Given the description of an element on the screen output the (x, y) to click on. 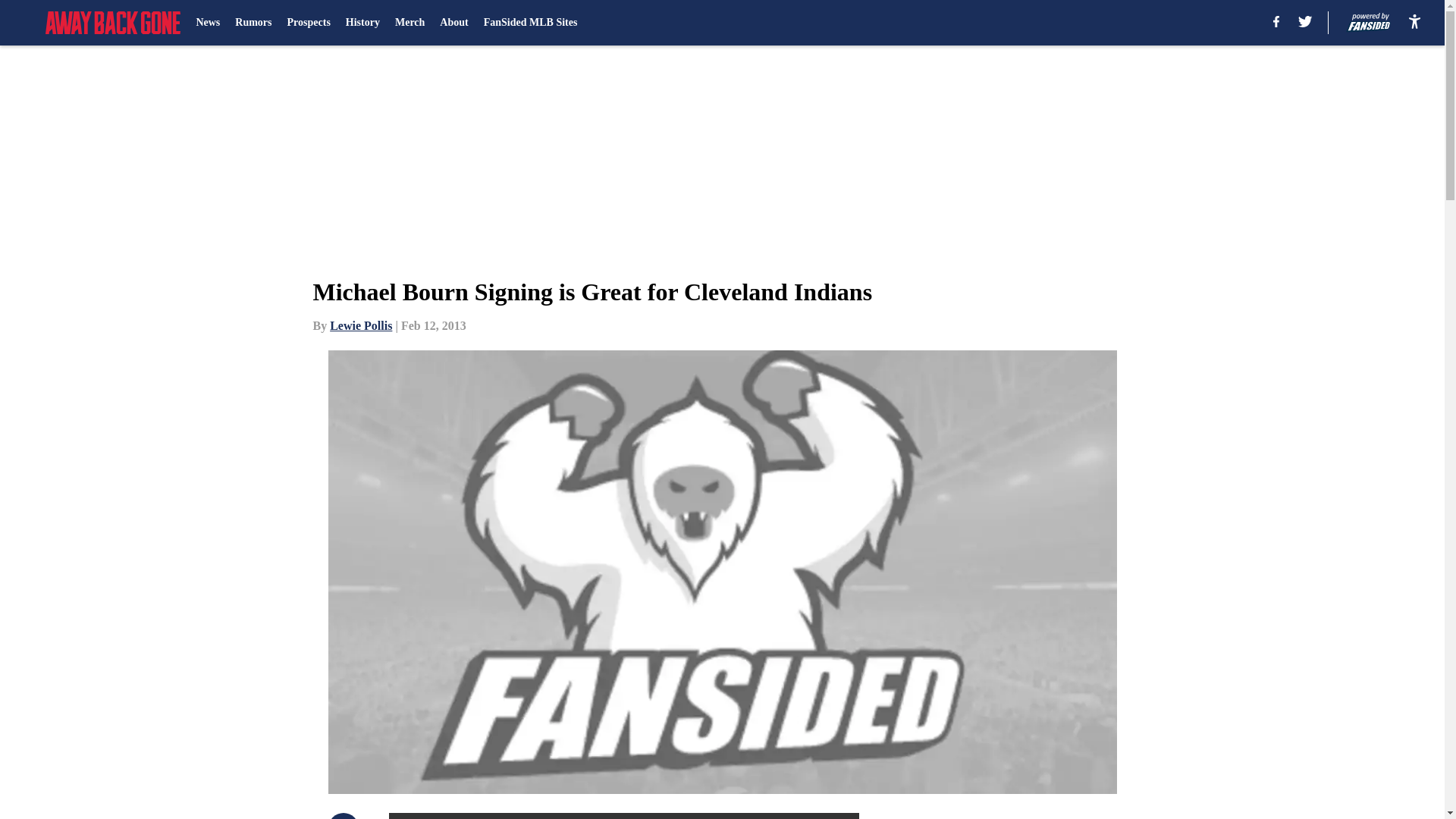
About (453, 22)
Rumors (252, 22)
Merch (409, 22)
FanSided MLB Sites (530, 22)
Prospects (308, 22)
News (207, 22)
History (363, 22)
Lewie Pollis (360, 325)
3rd party ad content (1047, 816)
